Given the description of an element on the screen output the (x, y) to click on. 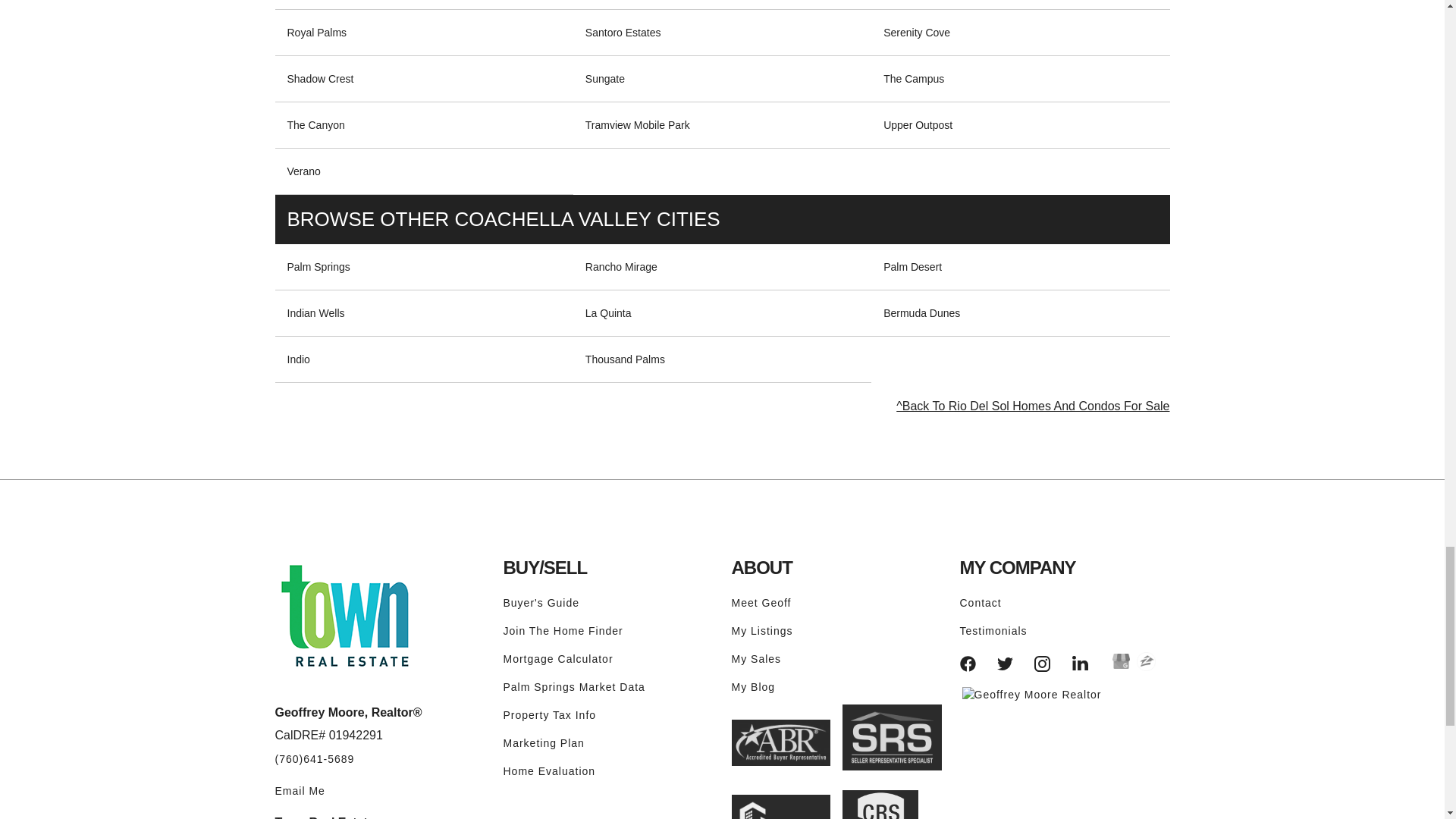
Facebook (967, 663)
LinkedIn (1079, 663)
Twitter (1005, 663)
